Given the description of an element on the screen output the (x, y) to click on. 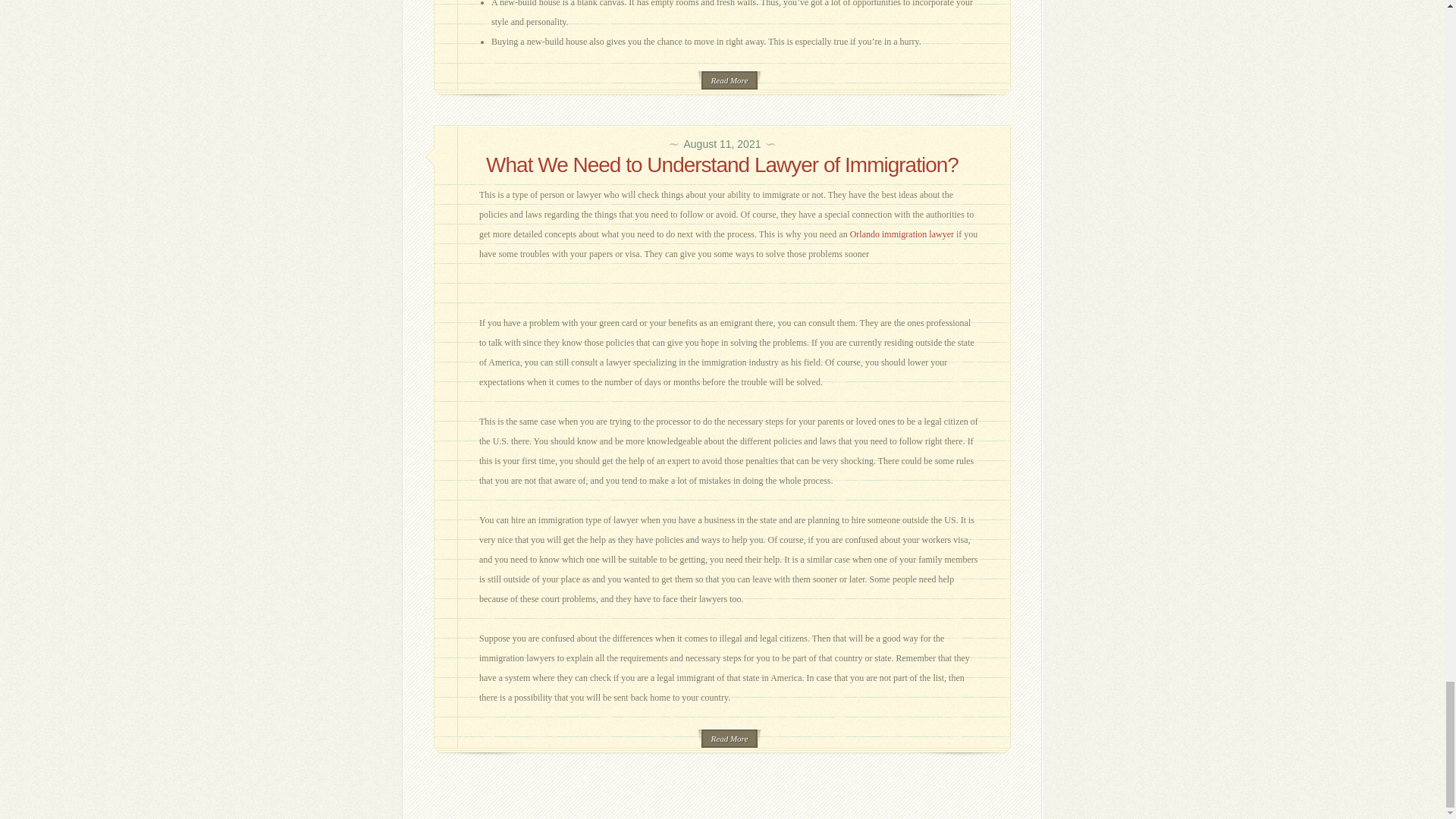
Orlando immigration lawyer (901, 234)
Read More (729, 79)
What We Need to Understand Lawyer of Immigration? (722, 164)
Read More (729, 737)
